Given the description of an element on the screen output the (x, y) to click on. 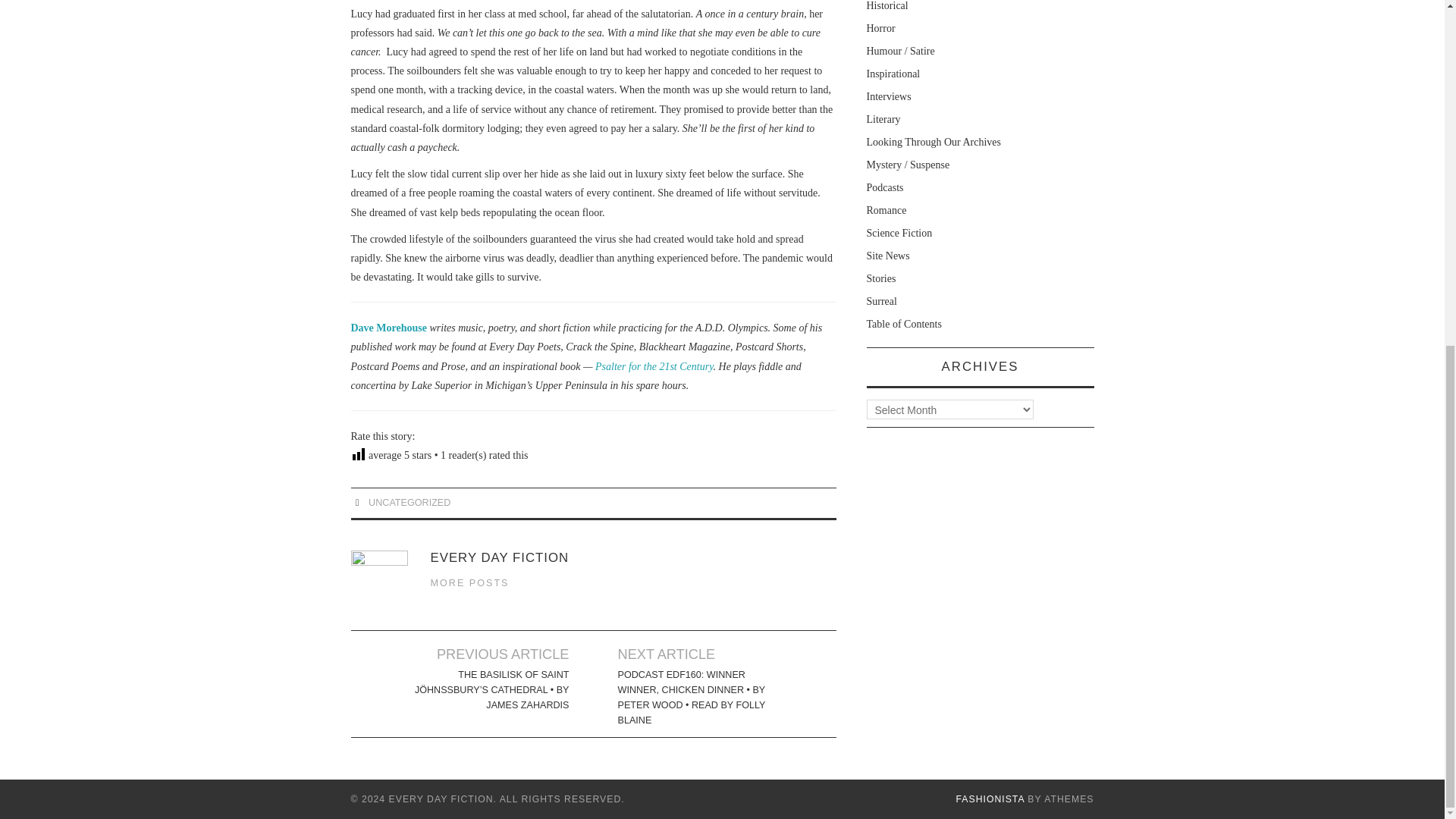
Psalter for the 21st Century (654, 366)
Looking Through Our Archives (933, 142)
Inspirational (893, 73)
Horror (880, 28)
Literary (882, 119)
Historical (886, 5)
Interviews (888, 96)
Dave Morehouse (388, 327)
MORE POSTS (469, 583)
